Given the description of an element on the screen output the (x, y) to click on. 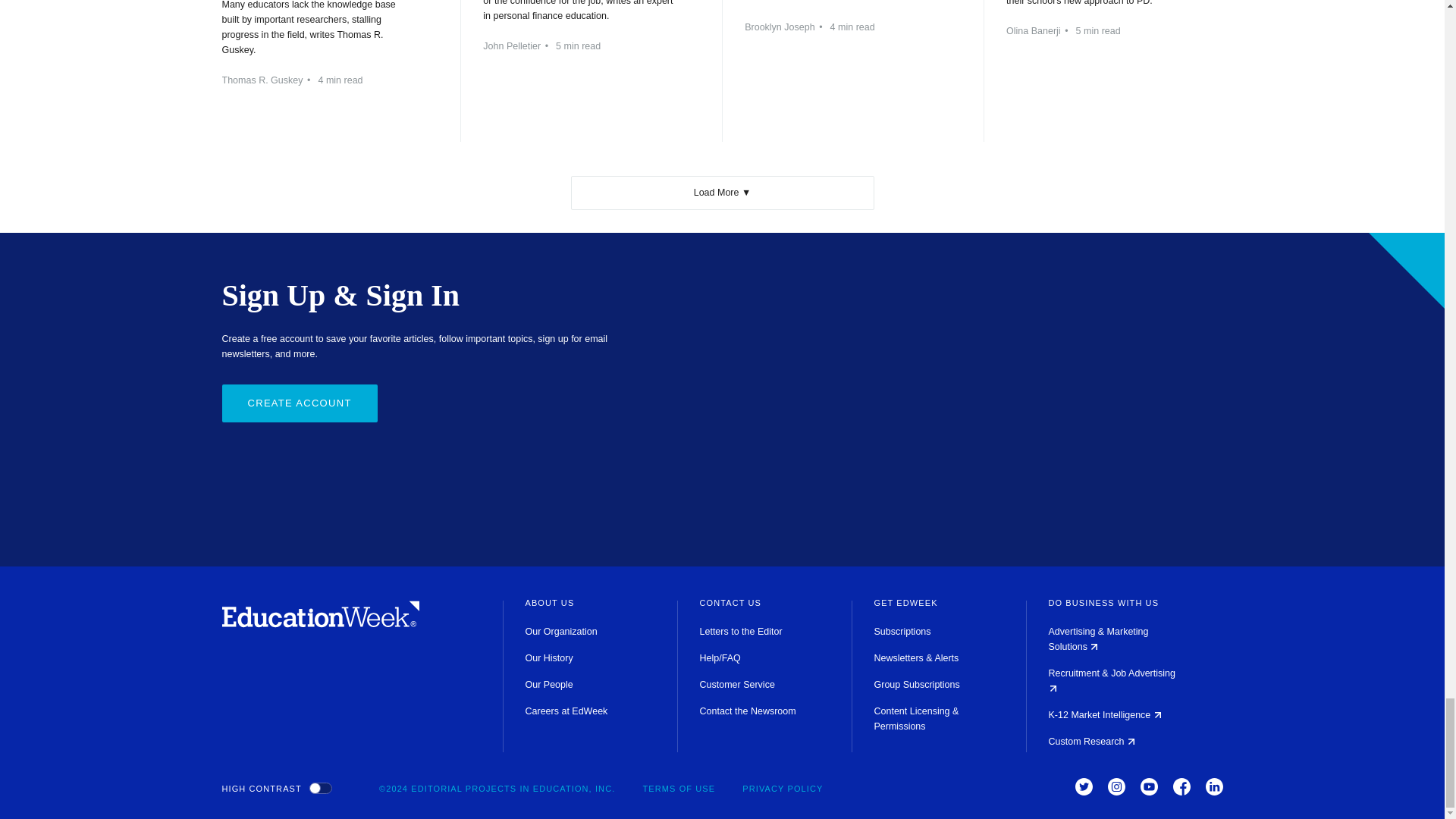
Homepage (320, 623)
